Given the description of an element on the screen output the (x, y) to click on. 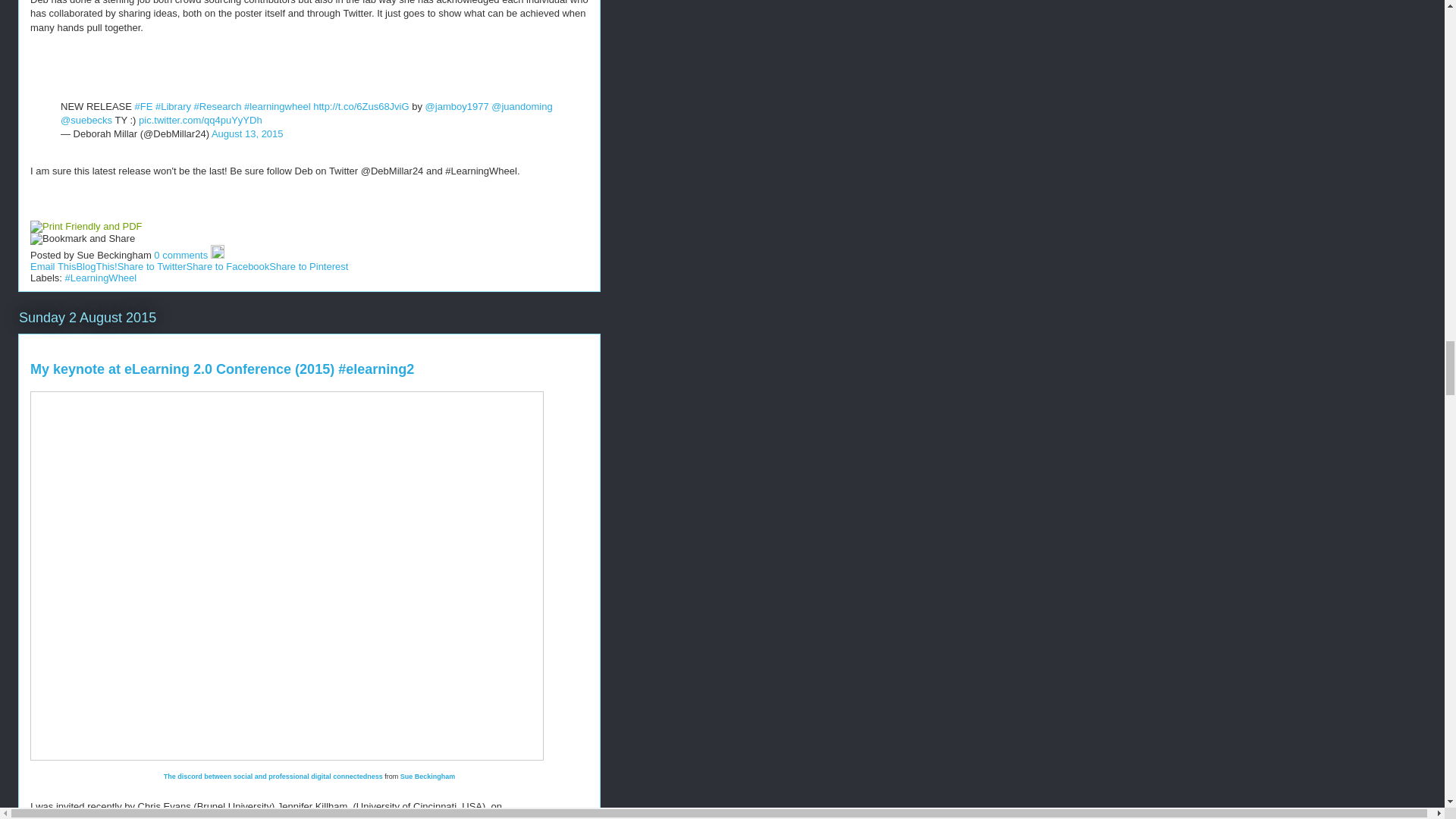
BlogThis! (95, 266)
Printer Friendly and PDF (86, 225)
Share to Facebook (227, 266)
Email This (52, 266)
Edit Post (217, 255)
Share to Pinterest (308, 266)
Share to Twitter (151, 266)
